Given the description of an element on the screen output the (x, y) to click on. 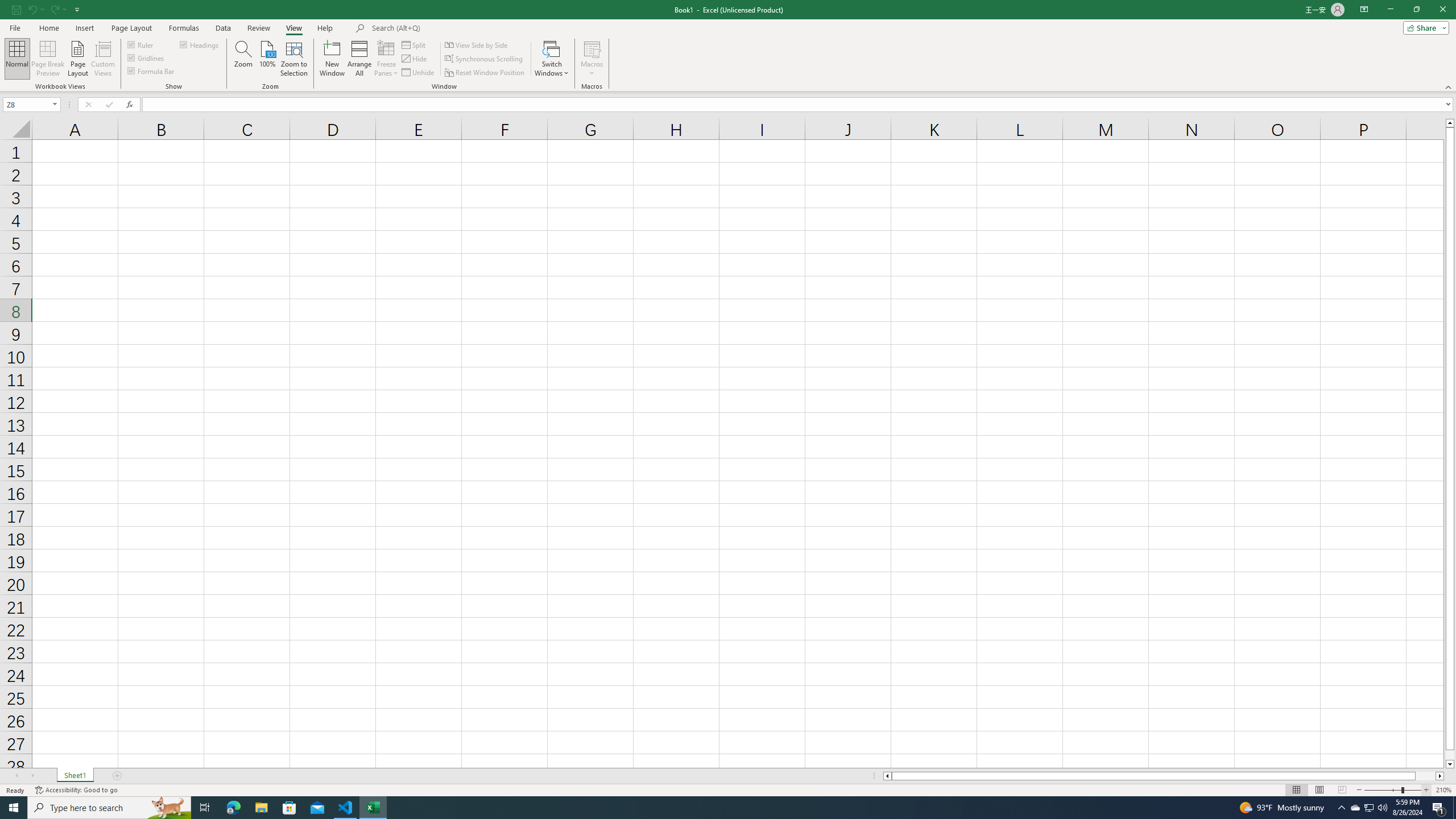
Custom Views... (103, 58)
Zoom... (242, 58)
